Given the description of an element on the screen output the (x, y) to click on. 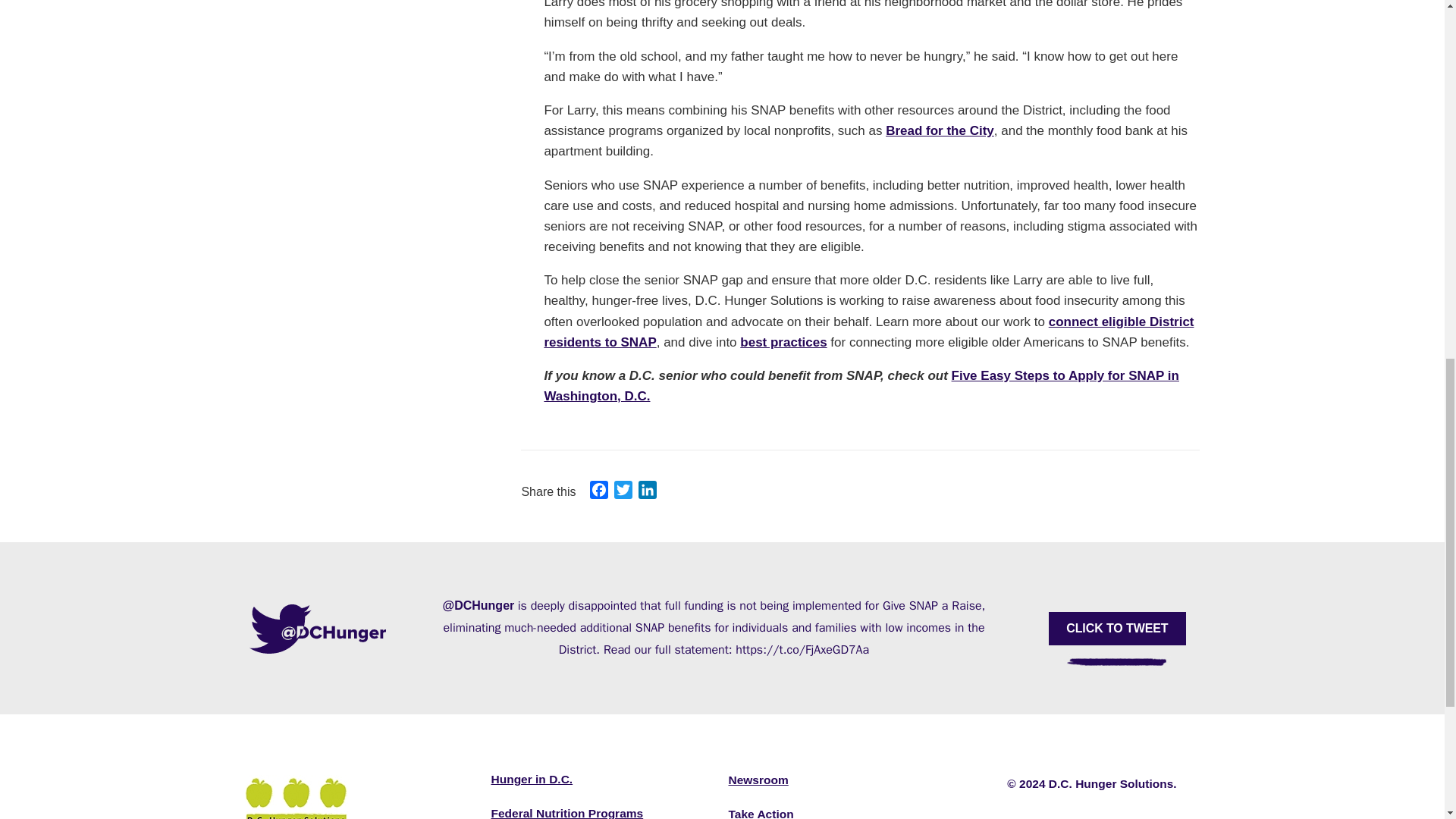
LinkedIn (646, 492)
Twitter-DCHunger (318, 628)
Twitter (622, 492)
Facebook (598, 492)
